Given the description of an element on the screen output the (x, y) to click on. 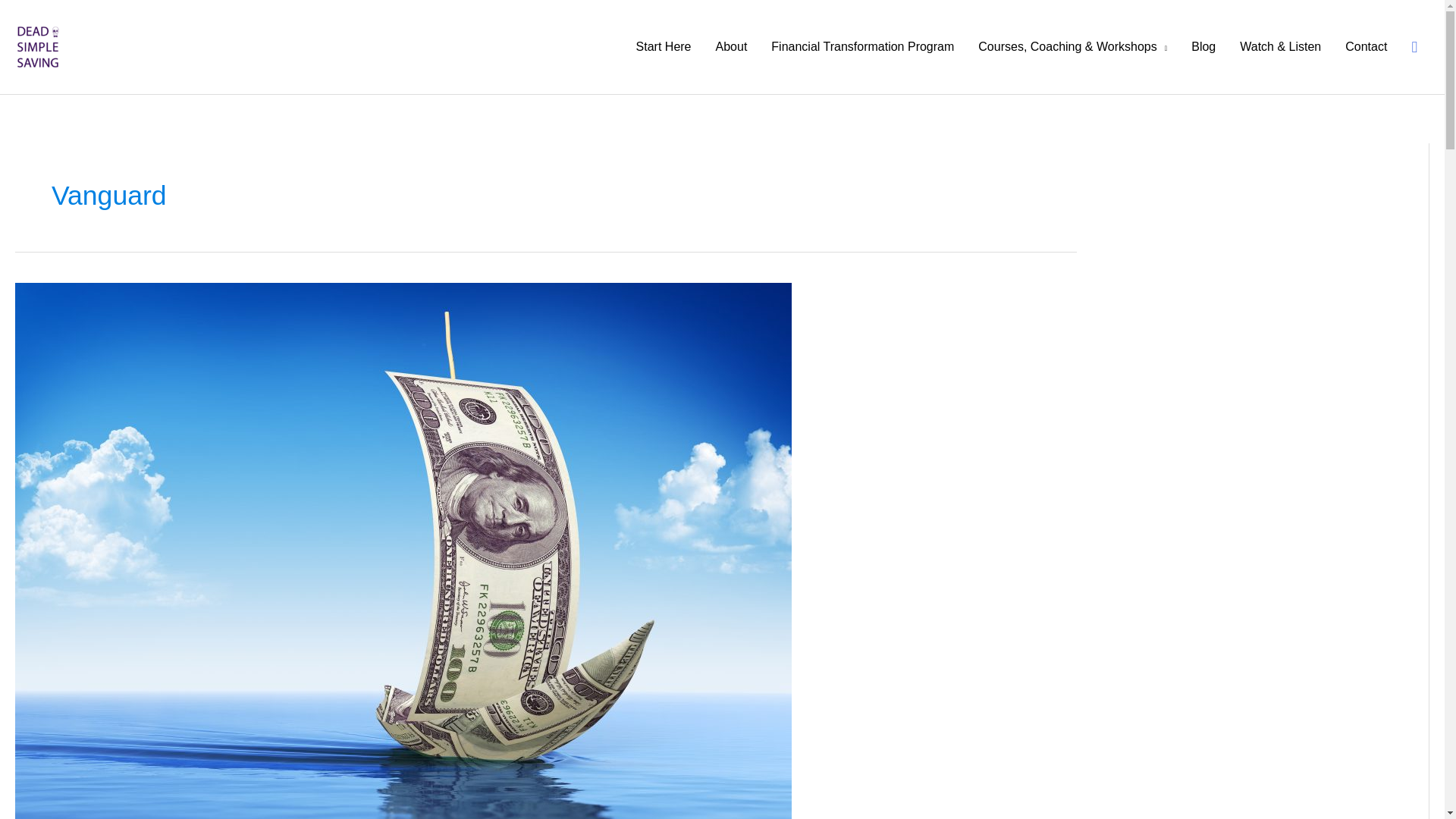
About (731, 46)
Contact (1366, 46)
Start Here (663, 46)
Financial Transformation Program (862, 46)
Blog (1203, 46)
